Given the description of an element on the screen output the (x, y) to click on. 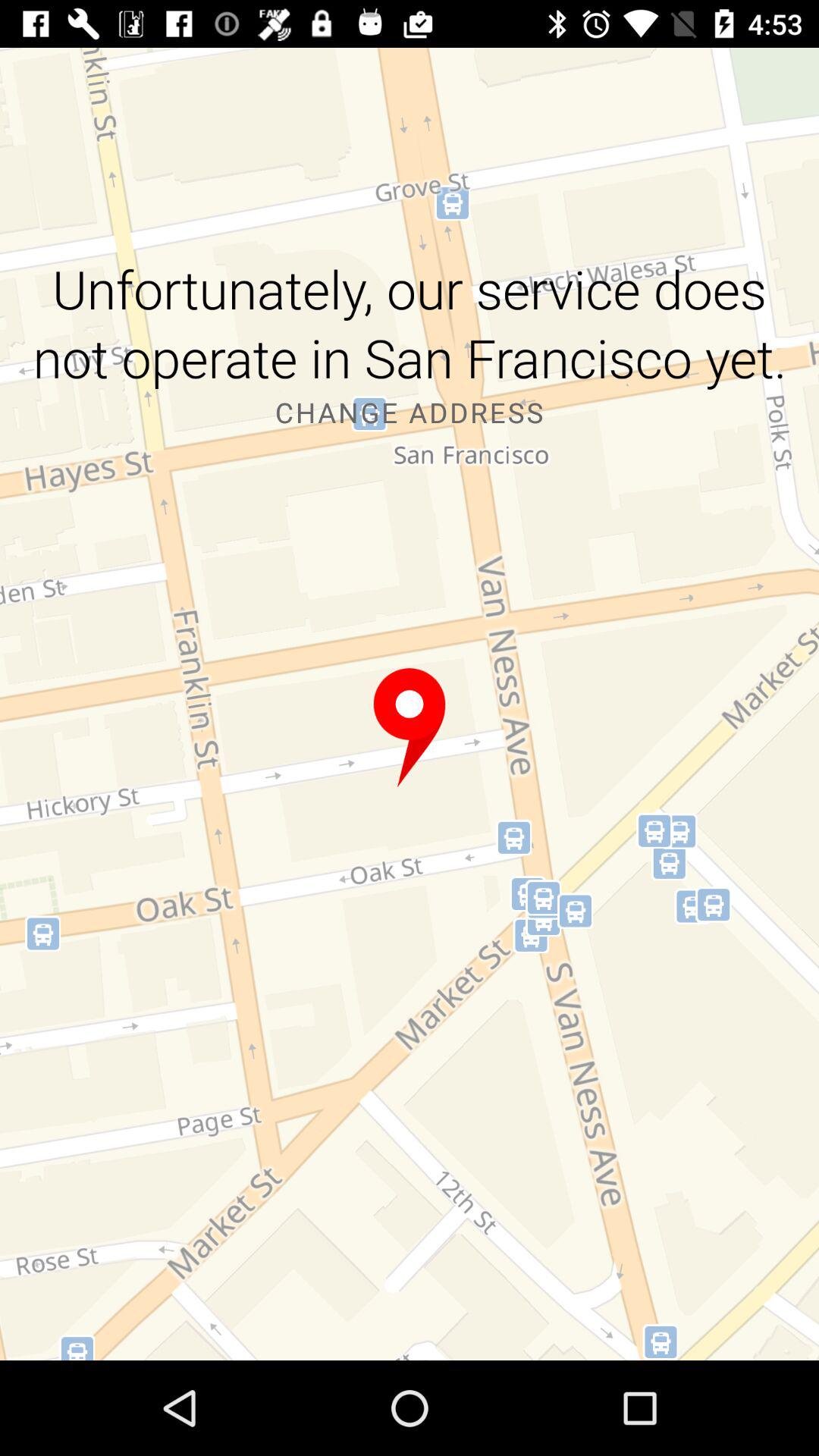
get more information about the marker (409, 727)
